Given the description of an element on the screen output the (x, y) to click on. 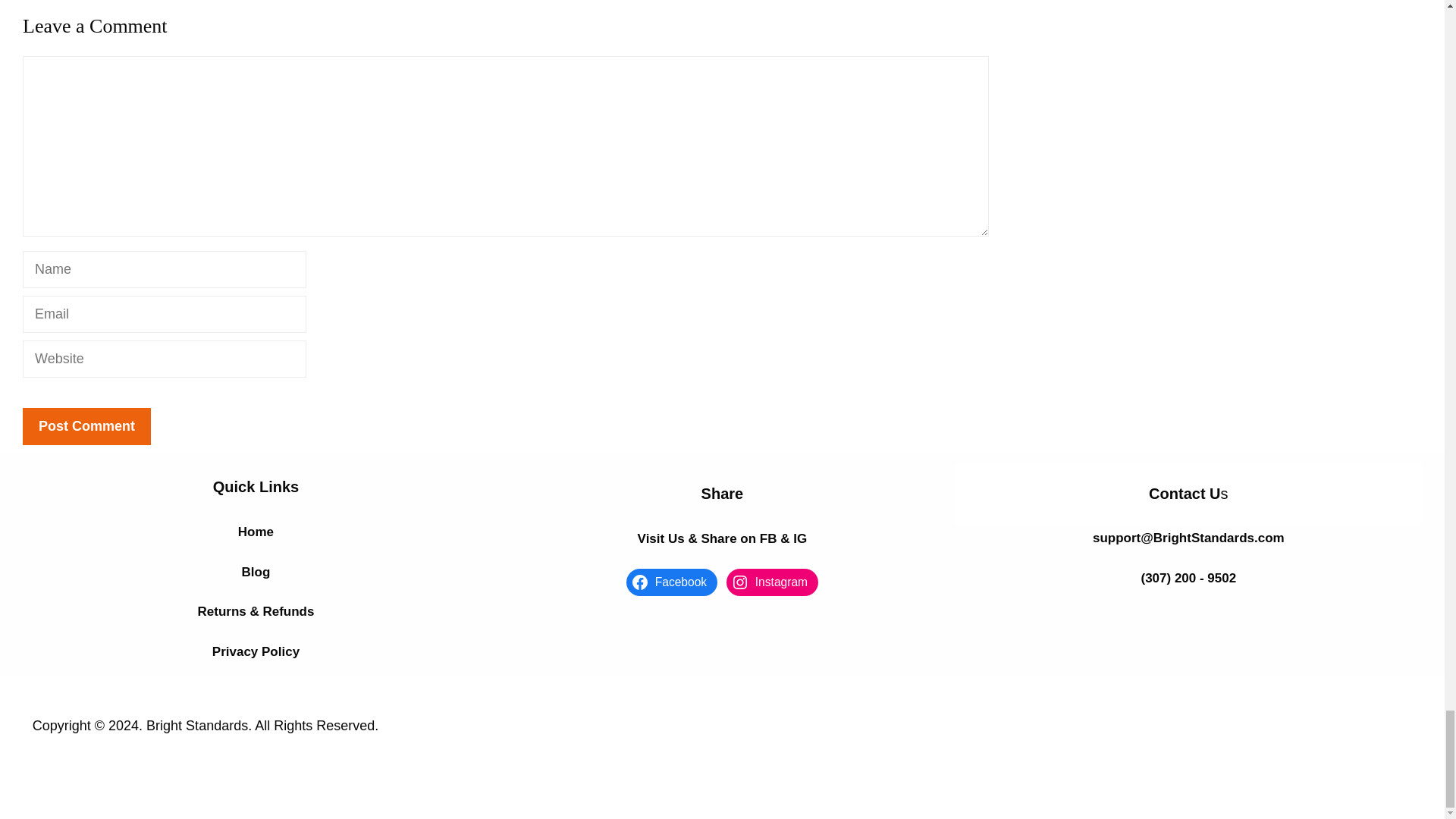
Post Comment (87, 426)
